Given the description of an element on the screen output the (x, y) to click on. 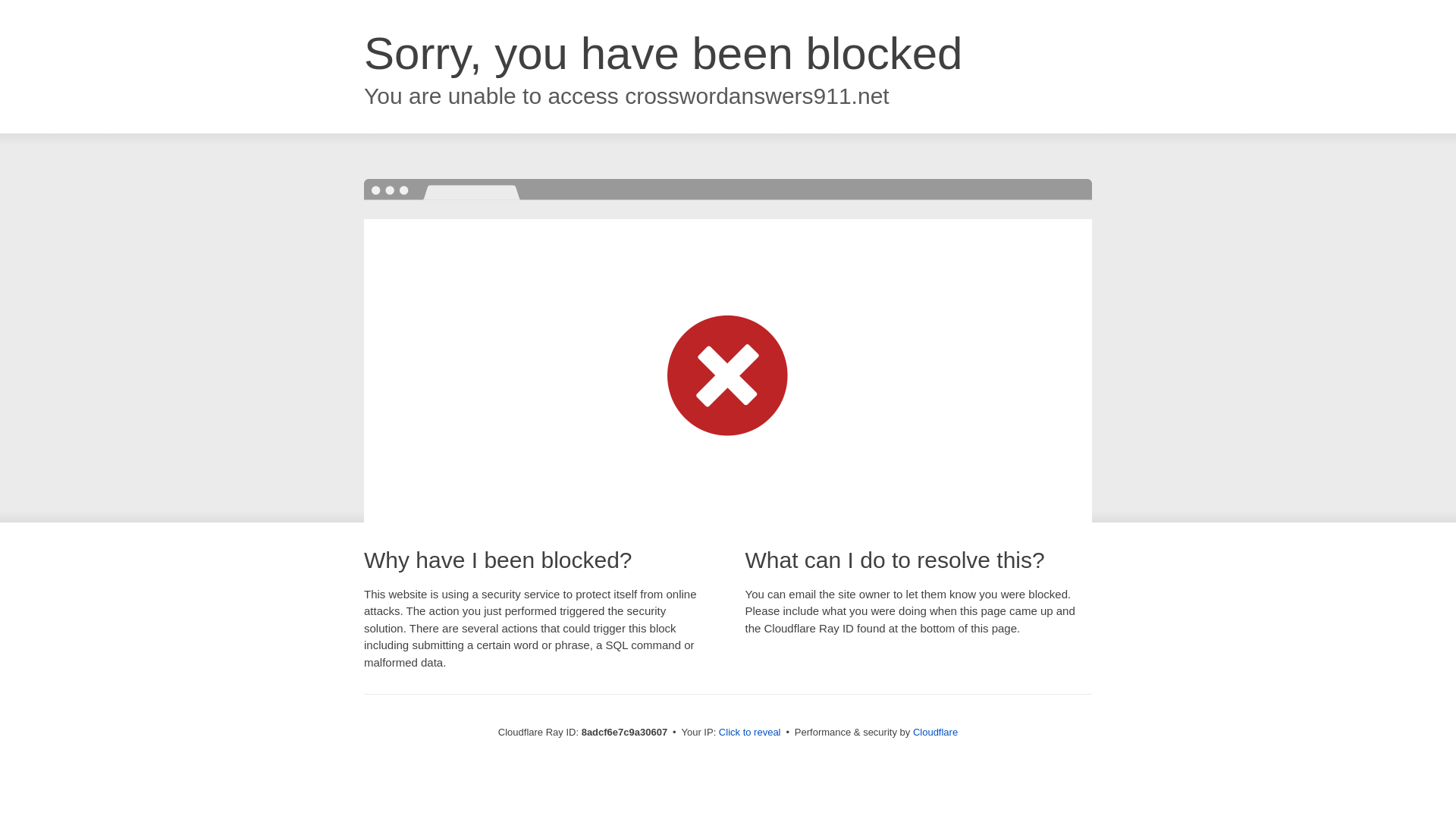
Cloudflare (935, 731)
Click to reveal (749, 732)
